Given the description of an element on the screen output the (x, y) to click on. 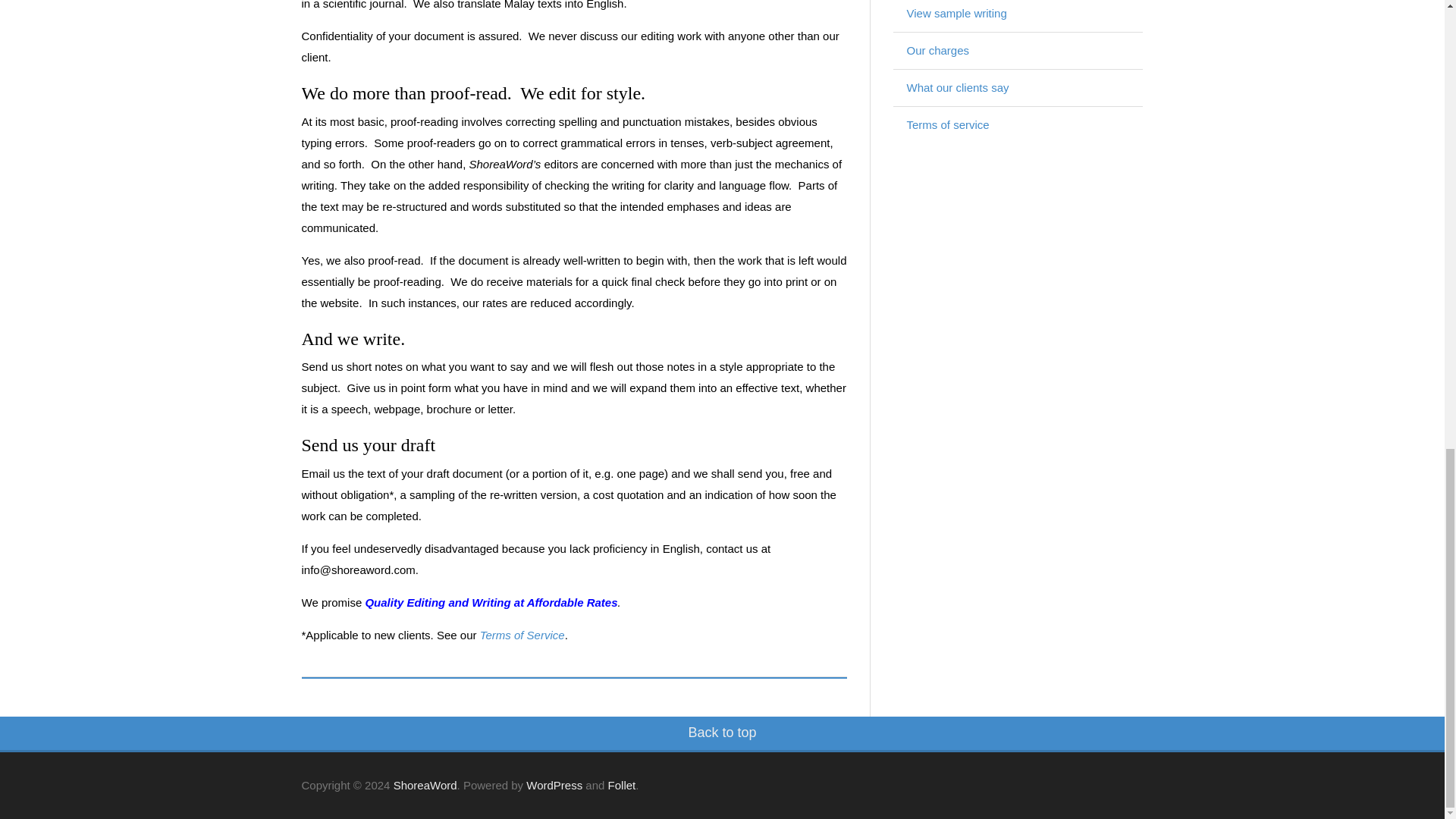
ShoreaWord (425, 784)
What our clients say (958, 87)
Terms of Service (522, 634)
WordPress (553, 784)
Terms of service (948, 124)
View sample writing (957, 12)
Our charges (938, 50)
Follet (622, 784)
